Given the description of an element on the screen output the (x, y) to click on. 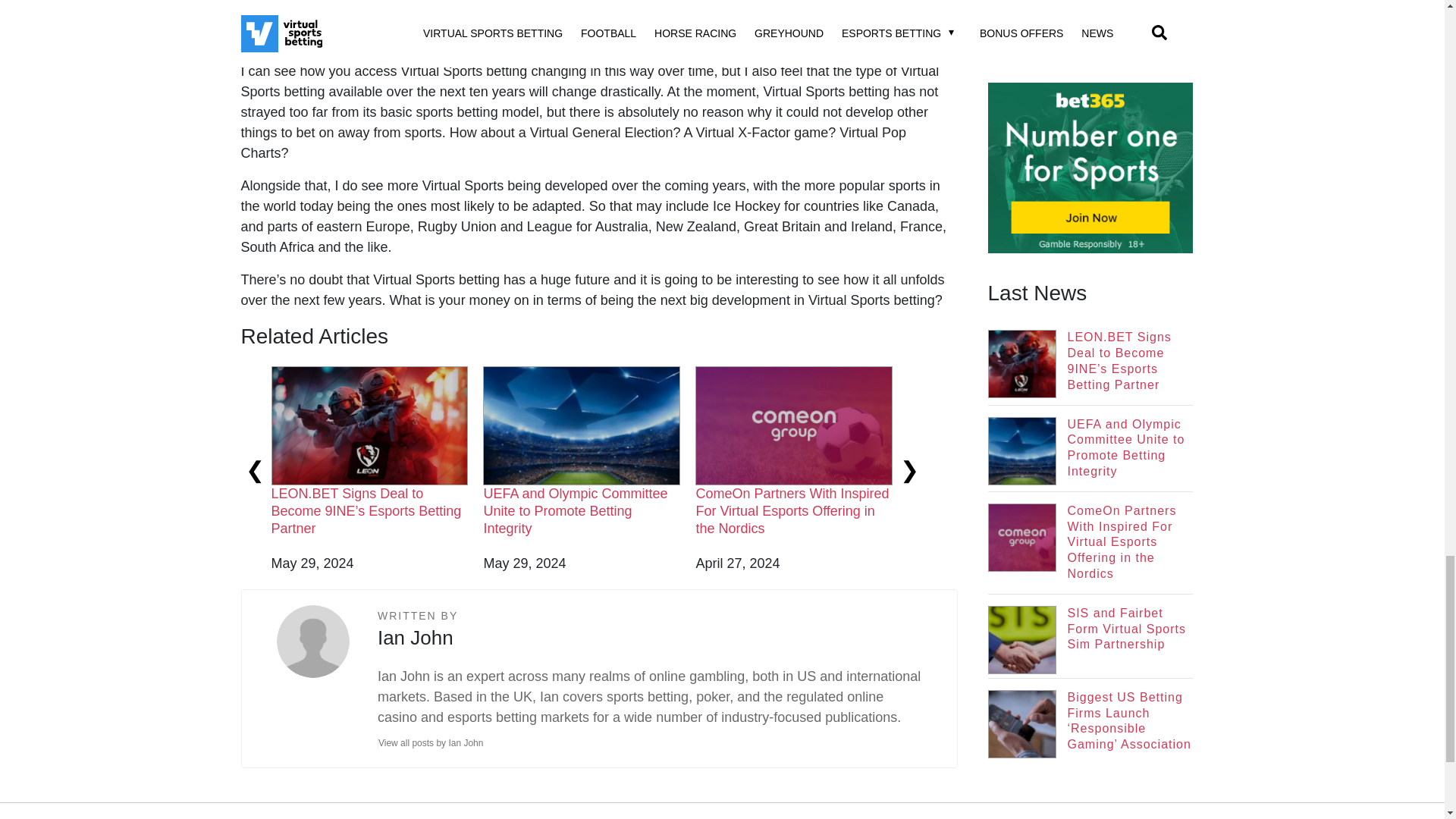
Next (909, 470)
Previous (255, 470)
